Given the description of an element on the screen output the (x, y) to click on. 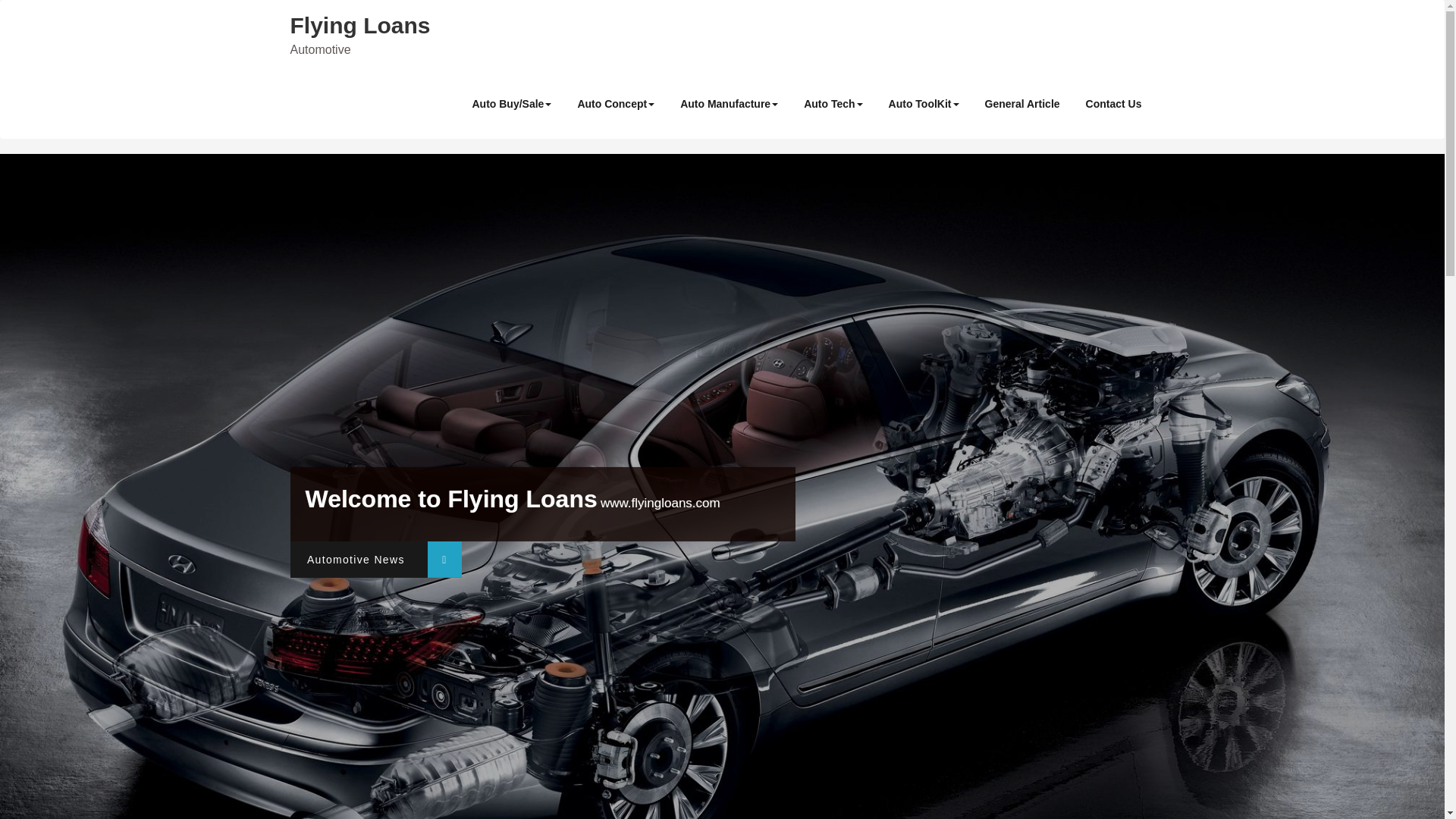
Auto Concept (615, 103)
Auto Manufacture (728, 103)
Auto ToolKit (924, 103)
Contact Us (1113, 103)
General Article (1022, 103)
Automotive News (375, 559)
Flying Loans (359, 25)
Auto Tech (832, 103)
